Given the description of an element on the screen output the (x, y) to click on. 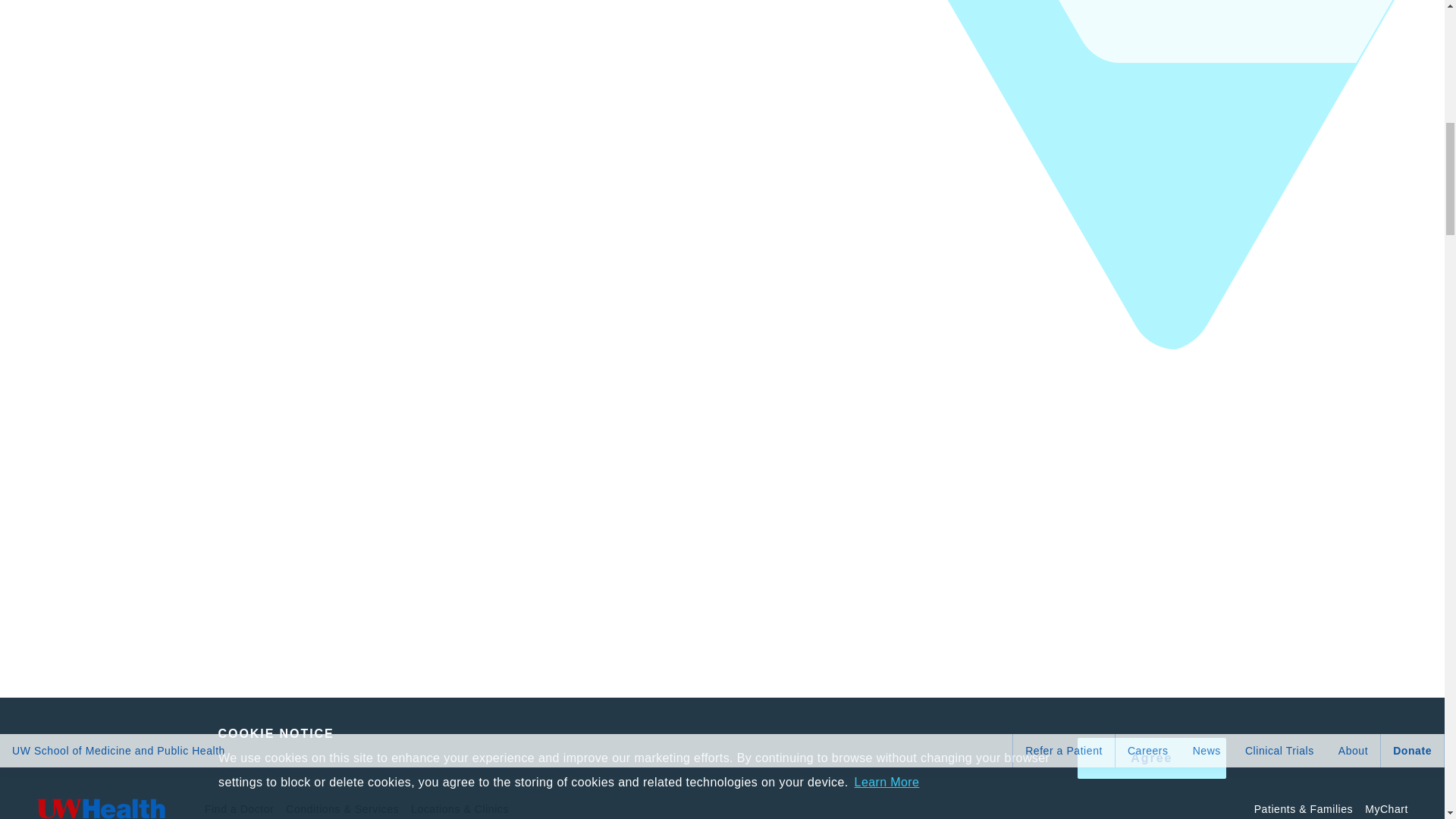
MyChart (1386, 798)
Refer a Patient (1064, 750)
Clinical Trials (1279, 750)
News (1206, 750)
Donate (1412, 750)
Find a Doctor (239, 798)
UW School of Medicine and Public Health (118, 750)
Careers (1147, 750)
About (1353, 750)
